Given the description of an element on the screen output the (x, y) to click on. 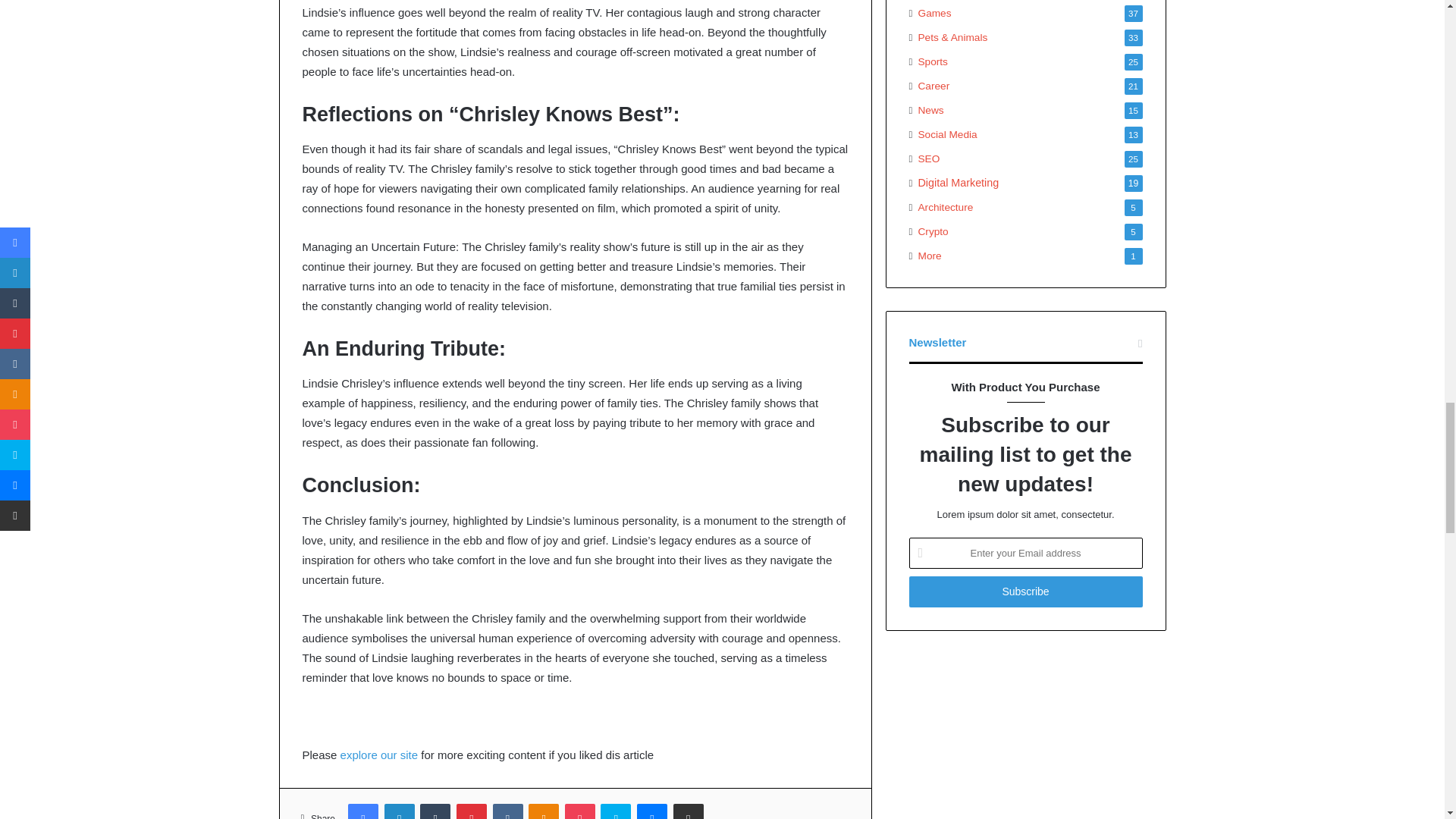
Subscribe (1025, 591)
